Given the description of an element on the screen output the (x, y) to click on. 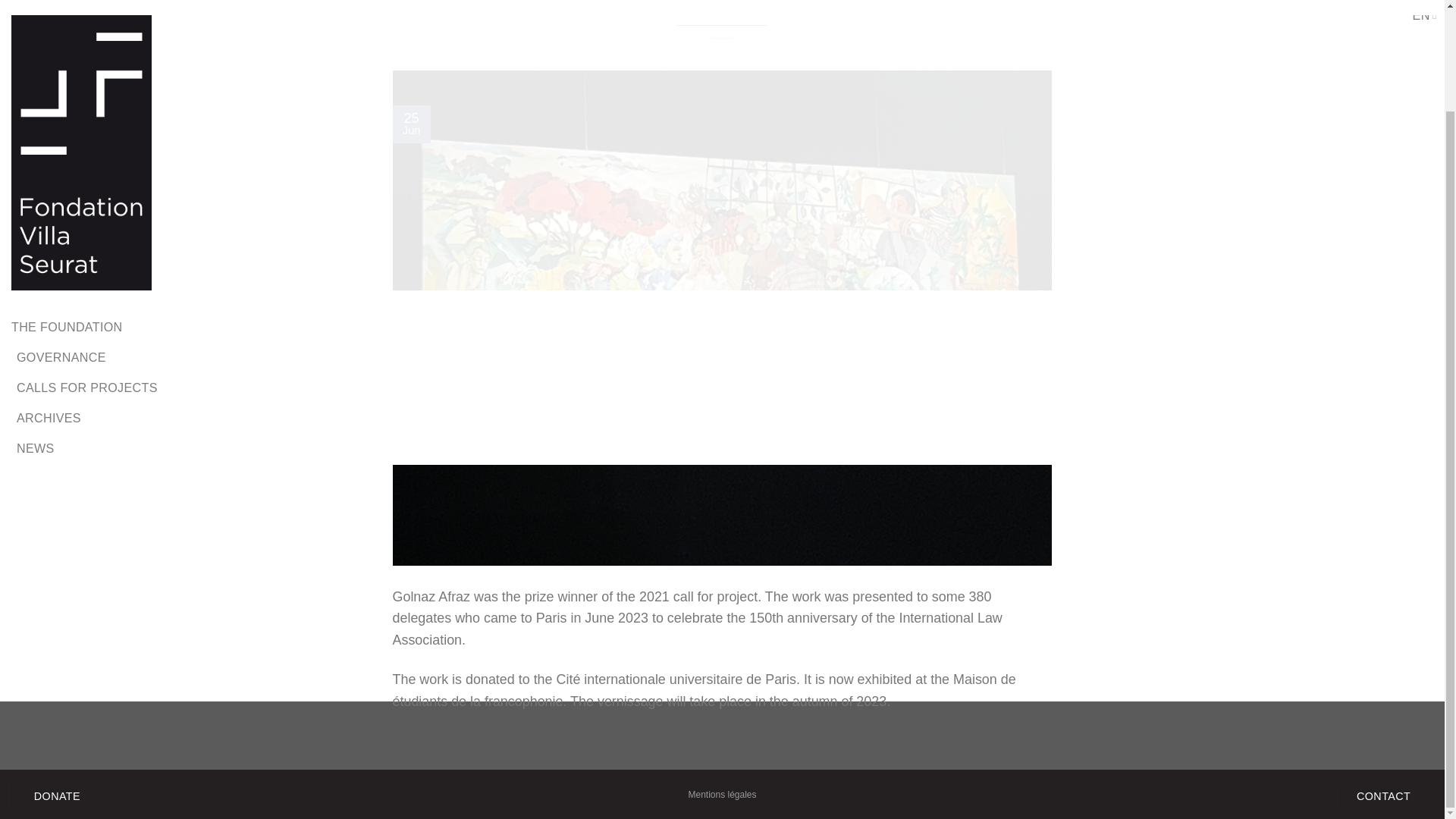
CALLS FOR PROJECTS (765, 747)
ARCHIVES (48, 299)
THE FOUNDATION (550, 747)
ARCHIVES (868, 747)
CALLS FOR PROJECTS (86, 269)
DONATE (56, 678)
NEWS (35, 329)
CONTACT (1383, 678)
GOVERNANCE (61, 239)
GOVERNANCE (651, 747)
